Given the description of an element on the screen output the (x, y) to click on. 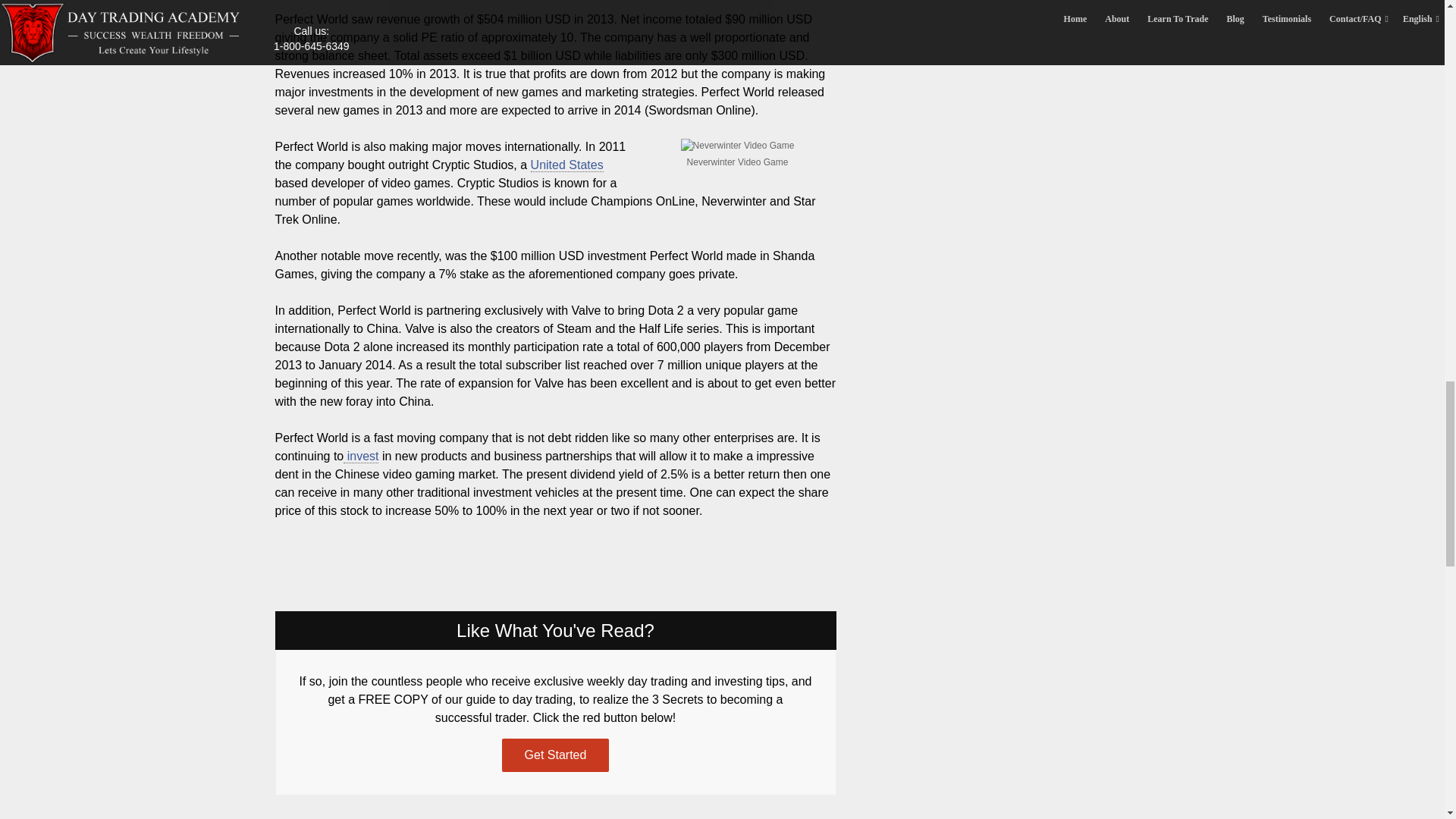
invest (360, 456)
United States (567, 164)
Invest in Trading Academy (360, 456)
Pax Americana (567, 164)
Get Started (556, 755)
